Given the description of an element on the screen output the (x, y) to click on. 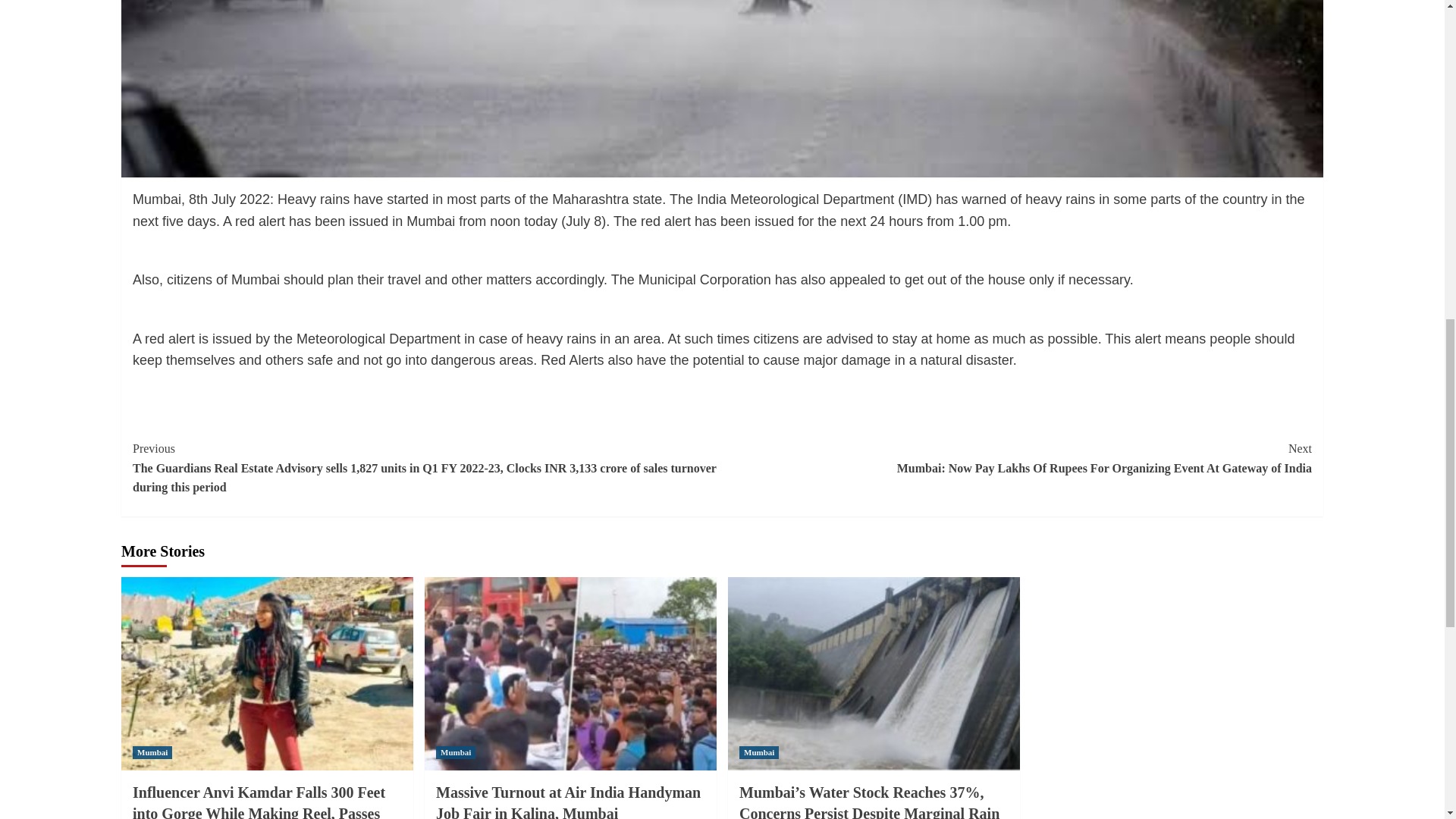
Mumbai (151, 752)
